Given the description of an element on the screen output the (x, y) to click on. 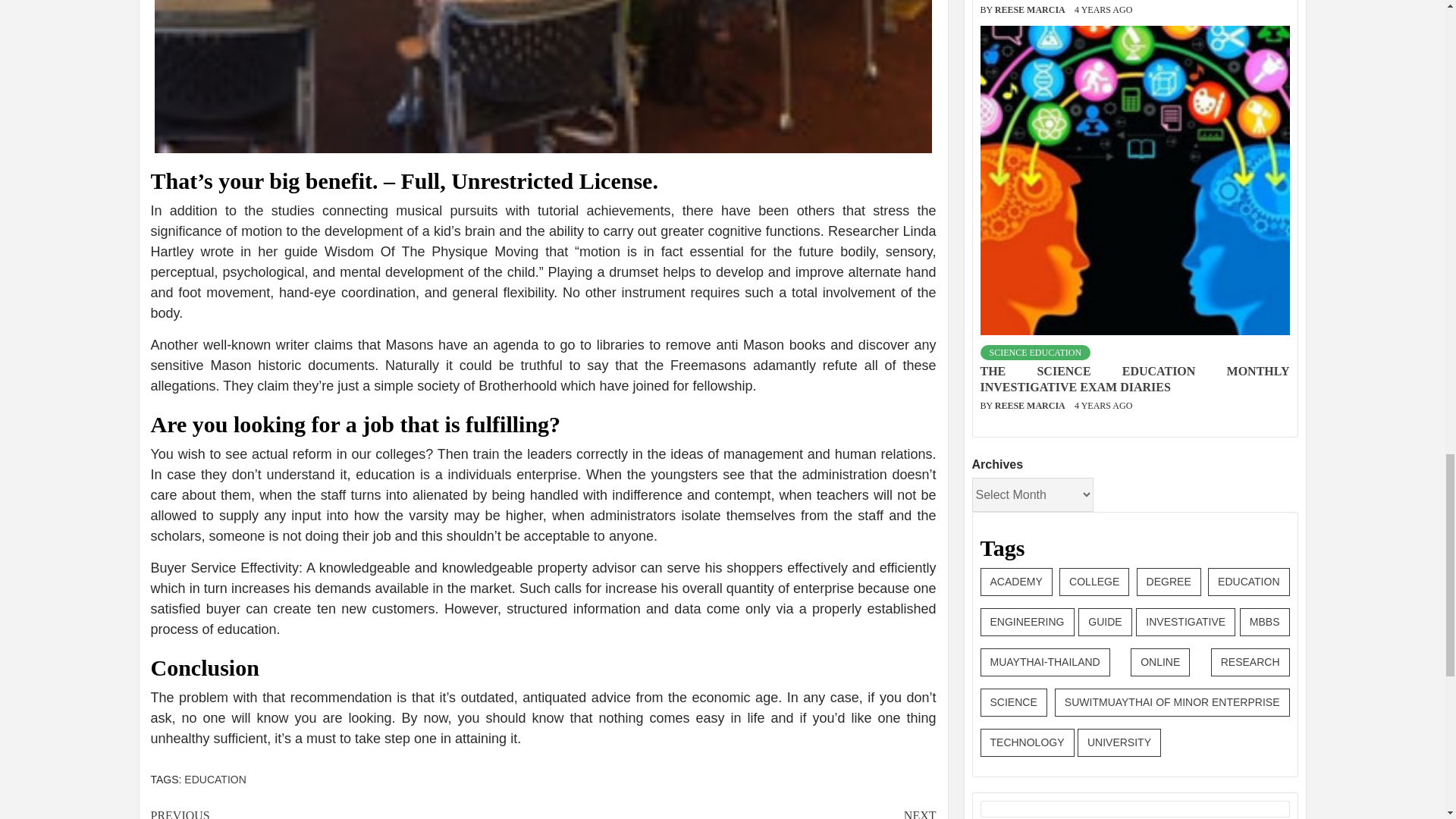
SCIENCE EDUCATION (1034, 275)
EDUCATION (215, 779)
